Given the description of an element on the screen output the (x, y) to click on. 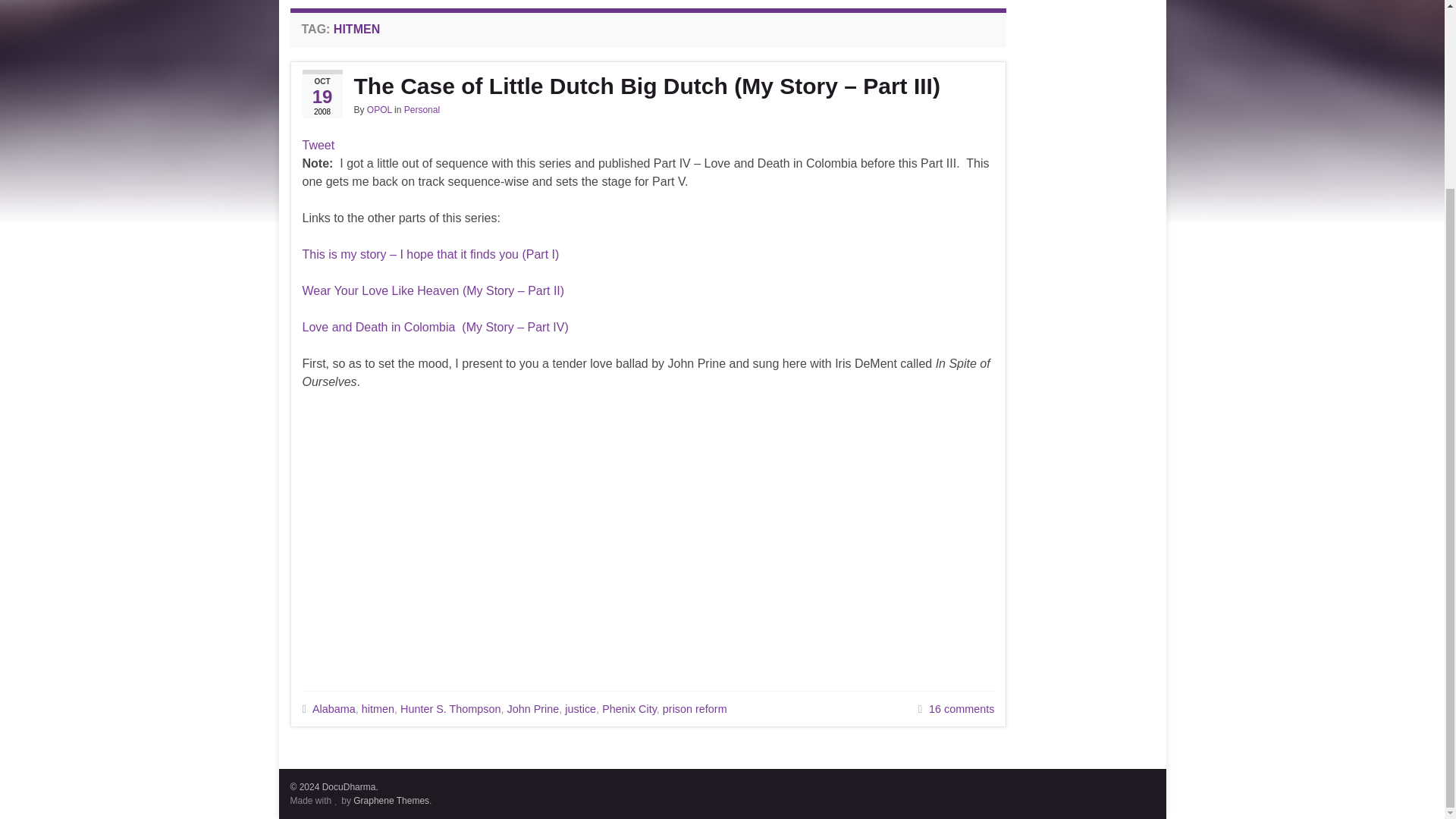
Hunter S. Thompson (450, 708)
Phenix City (629, 708)
Graphene Themes (391, 800)
Tweet (317, 144)
prison reform (694, 708)
John Prine (532, 708)
hitmen (377, 708)
16 comments (961, 708)
Alabama (334, 708)
OPOL (378, 109)
